Given the description of an element on the screen output the (x, y) to click on. 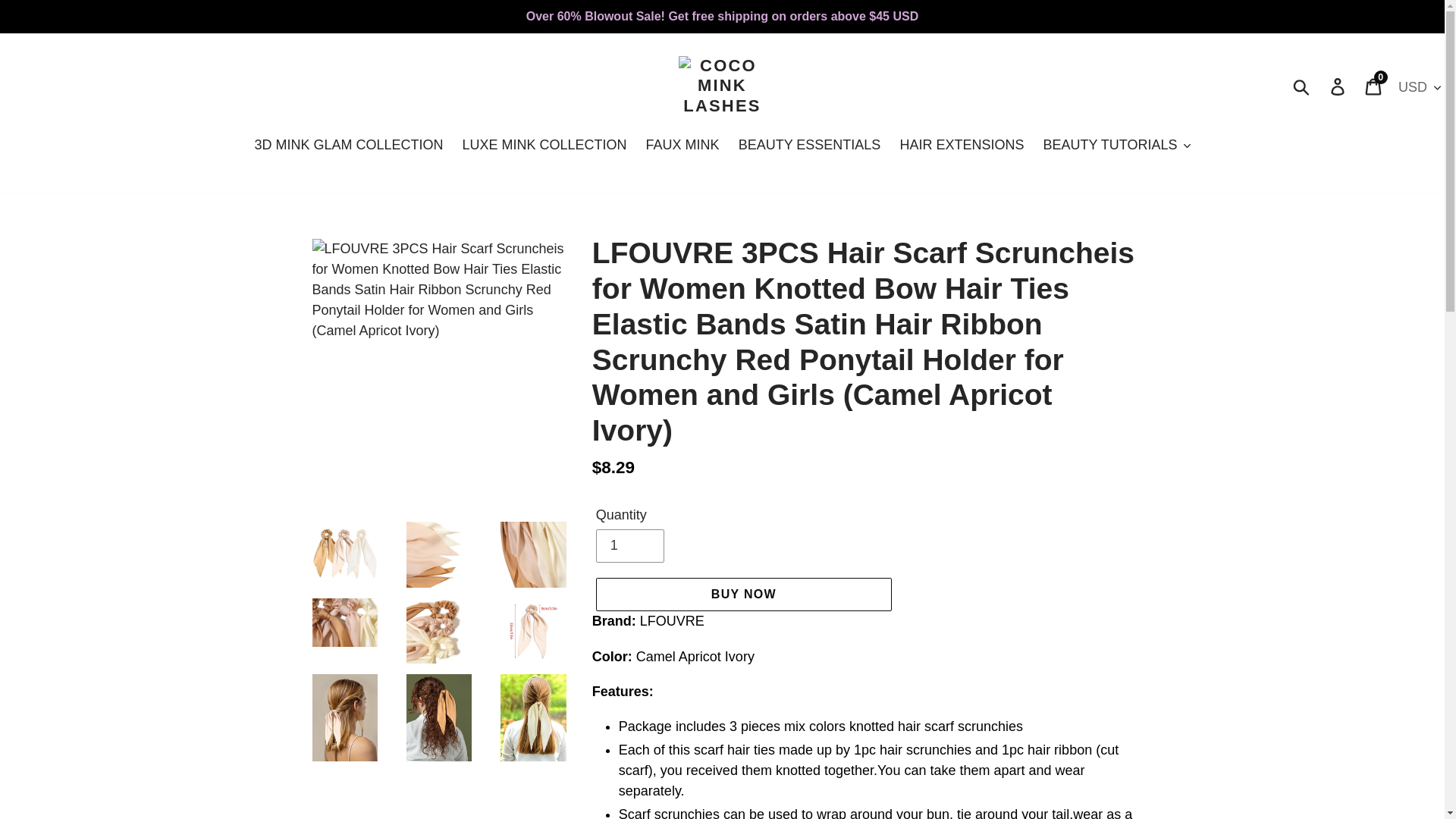
BEAUTY ESSENTIALS (809, 146)
LUXE MINK COLLECTION (544, 146)
HAIR EXTENSIONS (960, 146)
BUY NOW (743, 594)
1 (629, 545)
Log in (1338, 85)
3D MINK GLAM COLLECTION (1373, 85)
FAUX MINK (347, 146)
Submit (682, 146)
